Given the description of an element on the screen output the (x, y) to click on. 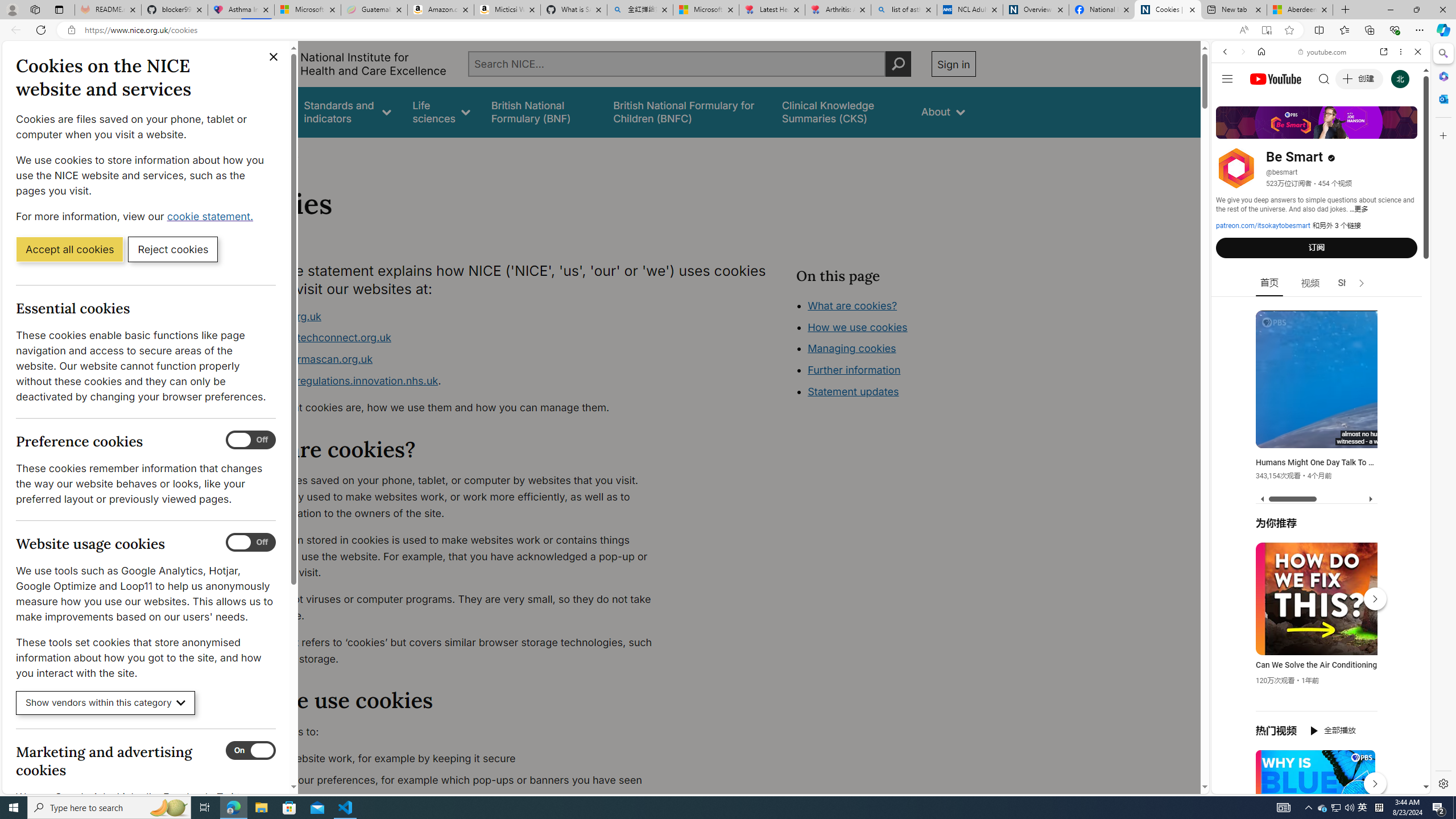
Intro - What it's like to be a whale (1388, 437)
Reject cookies (173, 248)
www.nice.org.uk (452, 316)
you (1315, 755)
Humans Might One Day Talk To Whales. What Should We Say? (1316, 462)
Perform search (898, 63)
